Given the description of an element on the screen output the (x, y) to click on. 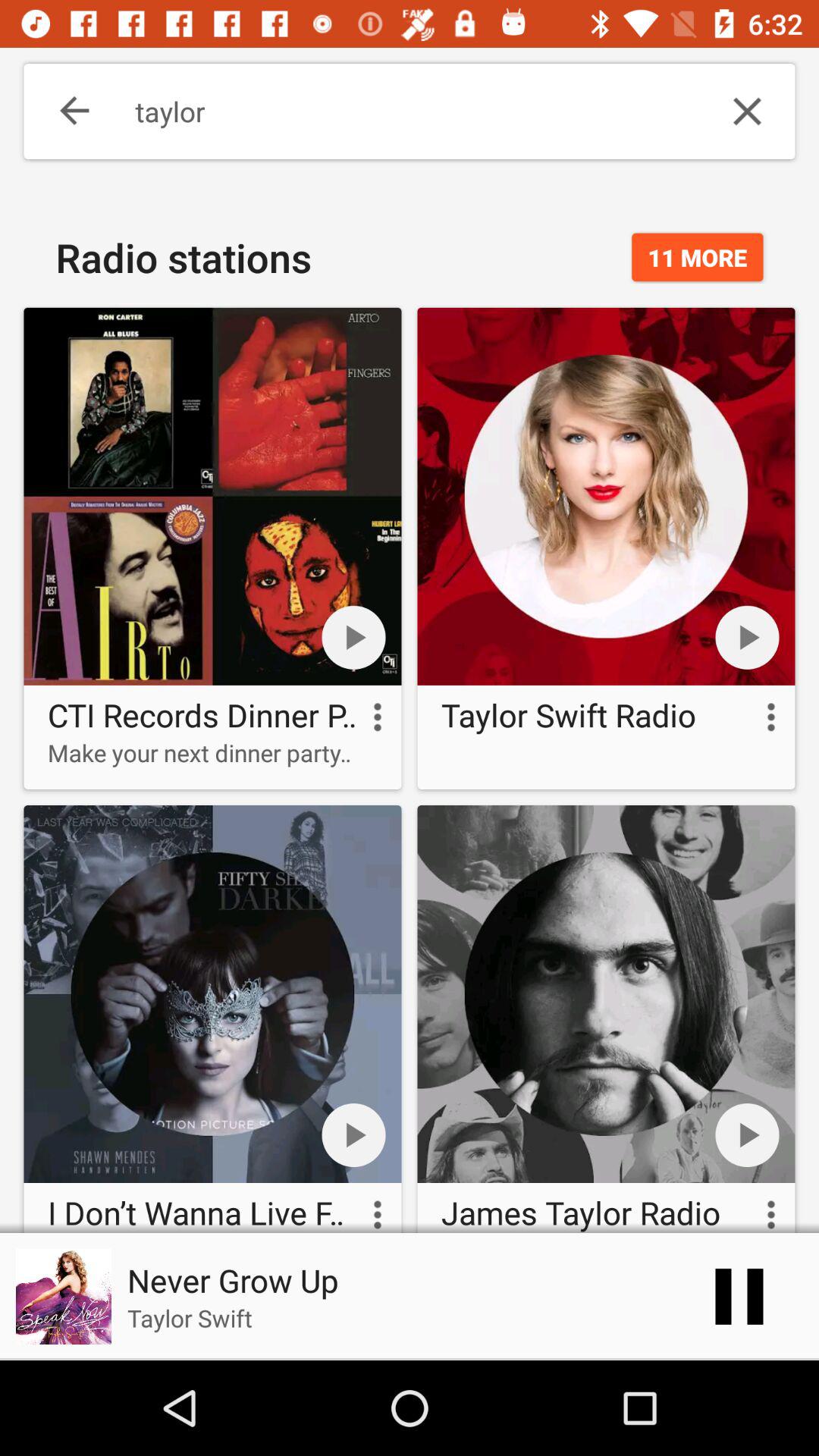
select the pause button at right most bottom of the page (739, 1296)
first image in the page (213, 496)
select the first image under radio stations (212, 548)
select fourth image under radio stations (606, 1015)
click on the play icon above taylor swift radio (747, 637)
select the cancel icon on the top right corner (747, 111)
select the icon beside the text  which says never grow up (63, 1296)
